Given the description of an element on the screen output the (x, y) to click on. 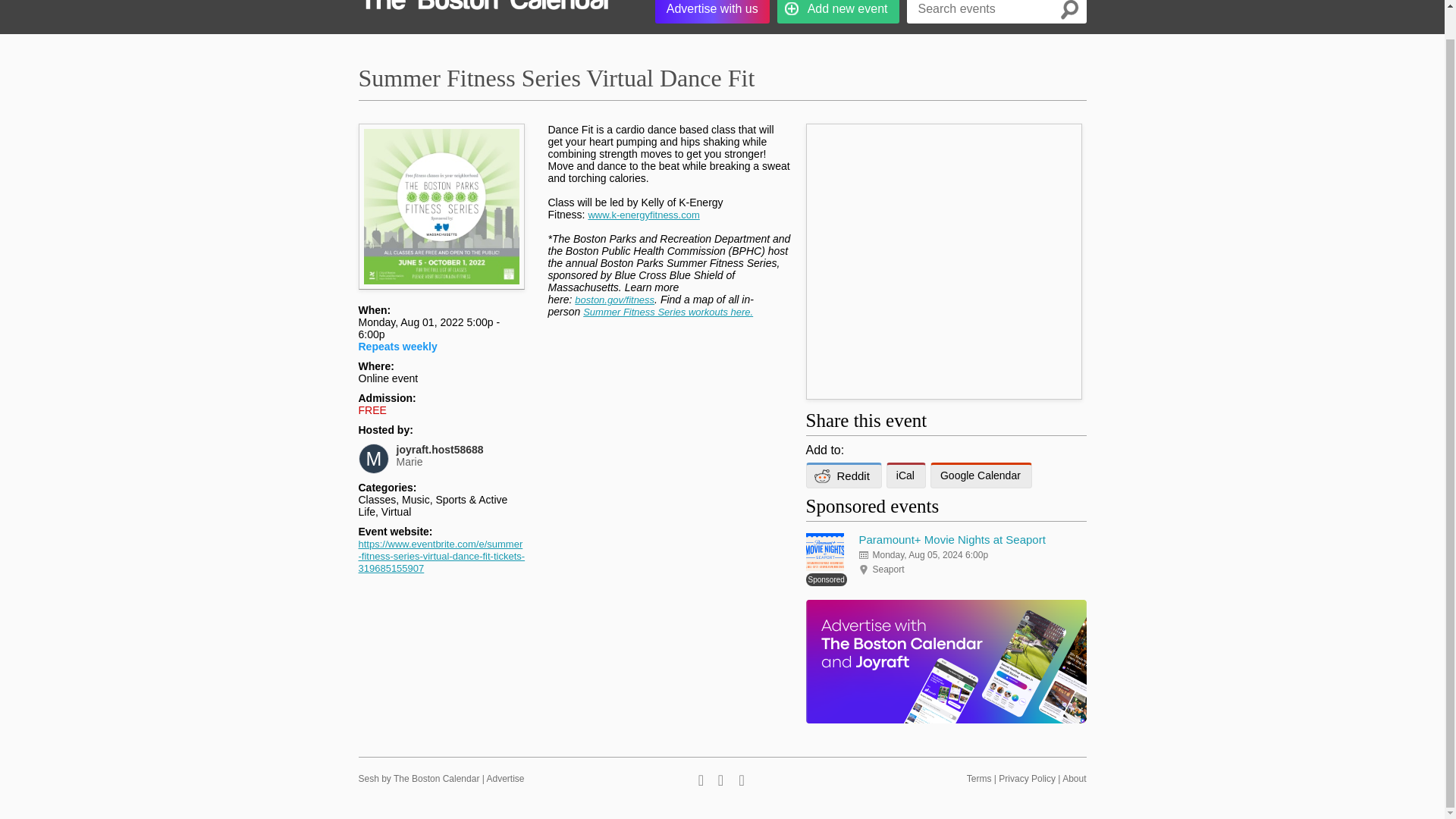
Sesh by The Boston Calendar (418, 778)
Add new event (838, 11)
Summer fitness series virtual dance fit (436, 188)
Privacy Policy (1026, 778)
Advertise with us (460, 455)
BostonCalendar.com (712, 11)
Terms (485, 12)
Search (978, 778)
Advertise (1069, 11)
www.k-energyfitness.com (505, 778)
Reddit (643, 214)
Summer Fitness Series workouts here. (842, 475)
Zoom in (667, 311)
Search (436, 188)
